Given the description of an element on the screen output the (x, y) to click on. 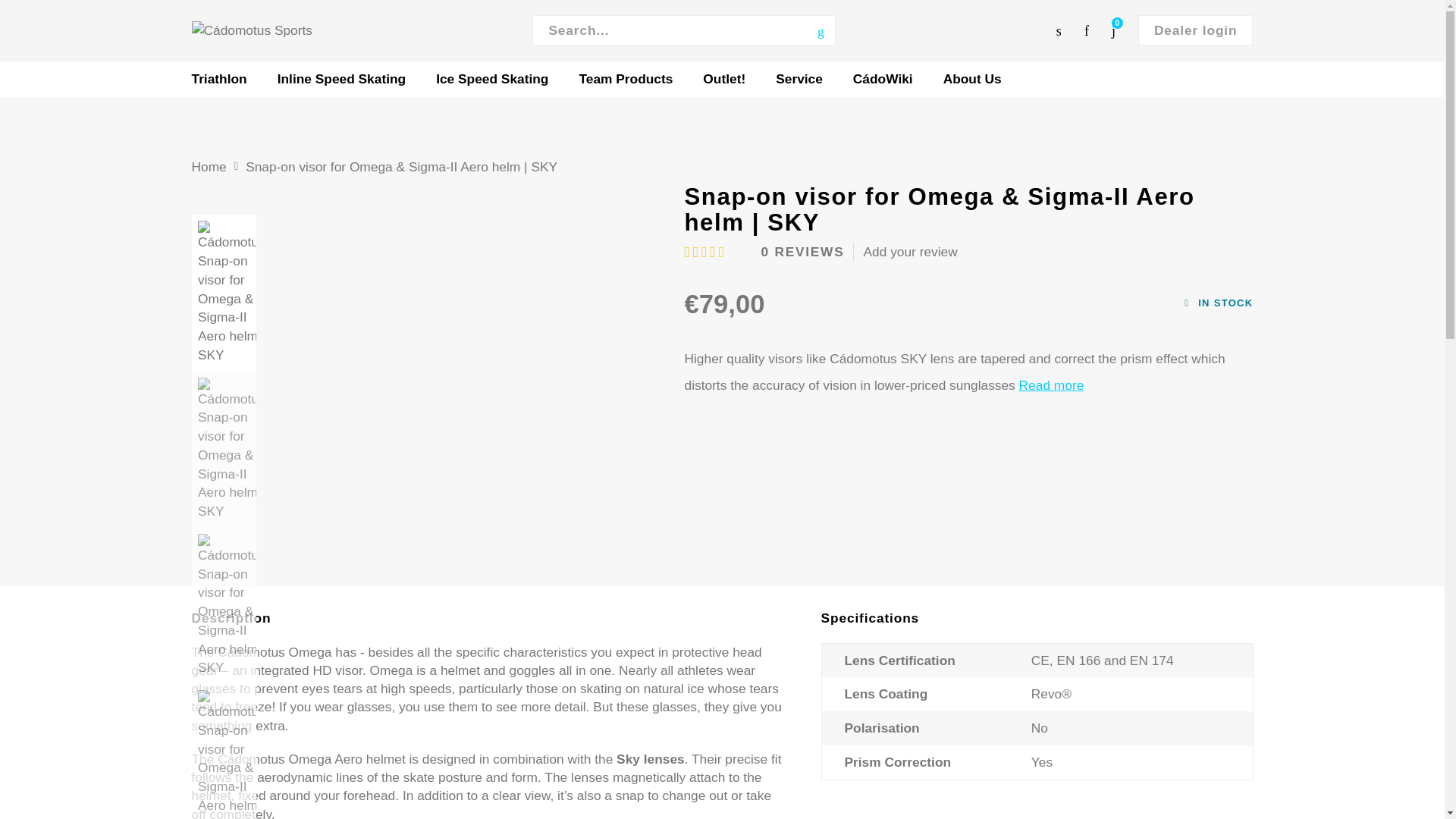
Home (207, 167)
Search (820, 30)
